Given the description of an element on the screen output the (x, y) to click on. 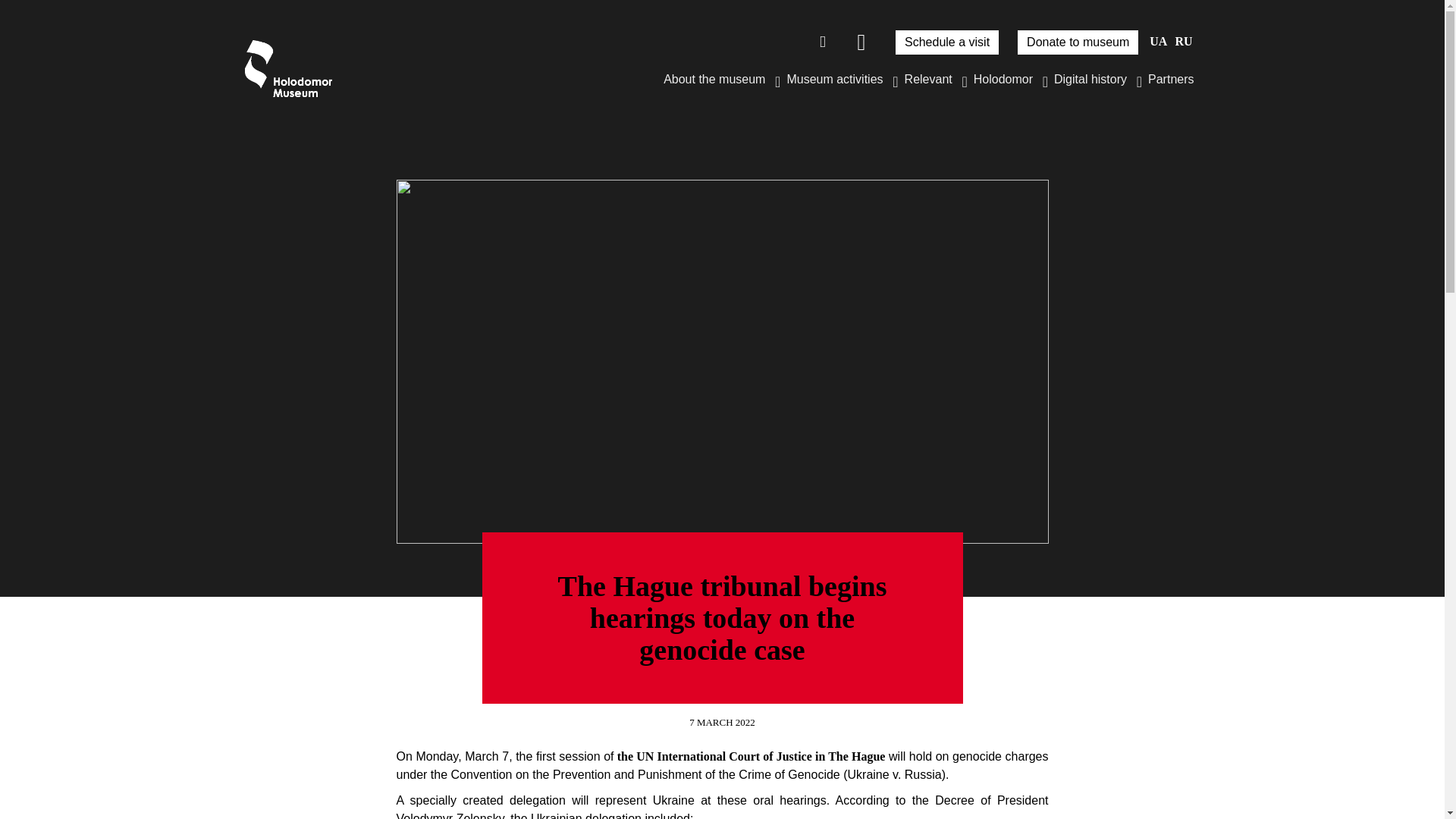
Museum activities (839, 79)
About the museum (719, 79)
RU (1183, 41)
Choose a convenient version for viewing (861, 41)
Relevant (933, 79)
Schedule a visit (946, 42)
UA (1158, 41)
Donate to museum (1077, 42)
